Given the description of an element on the screen output the (x, y) to click on. 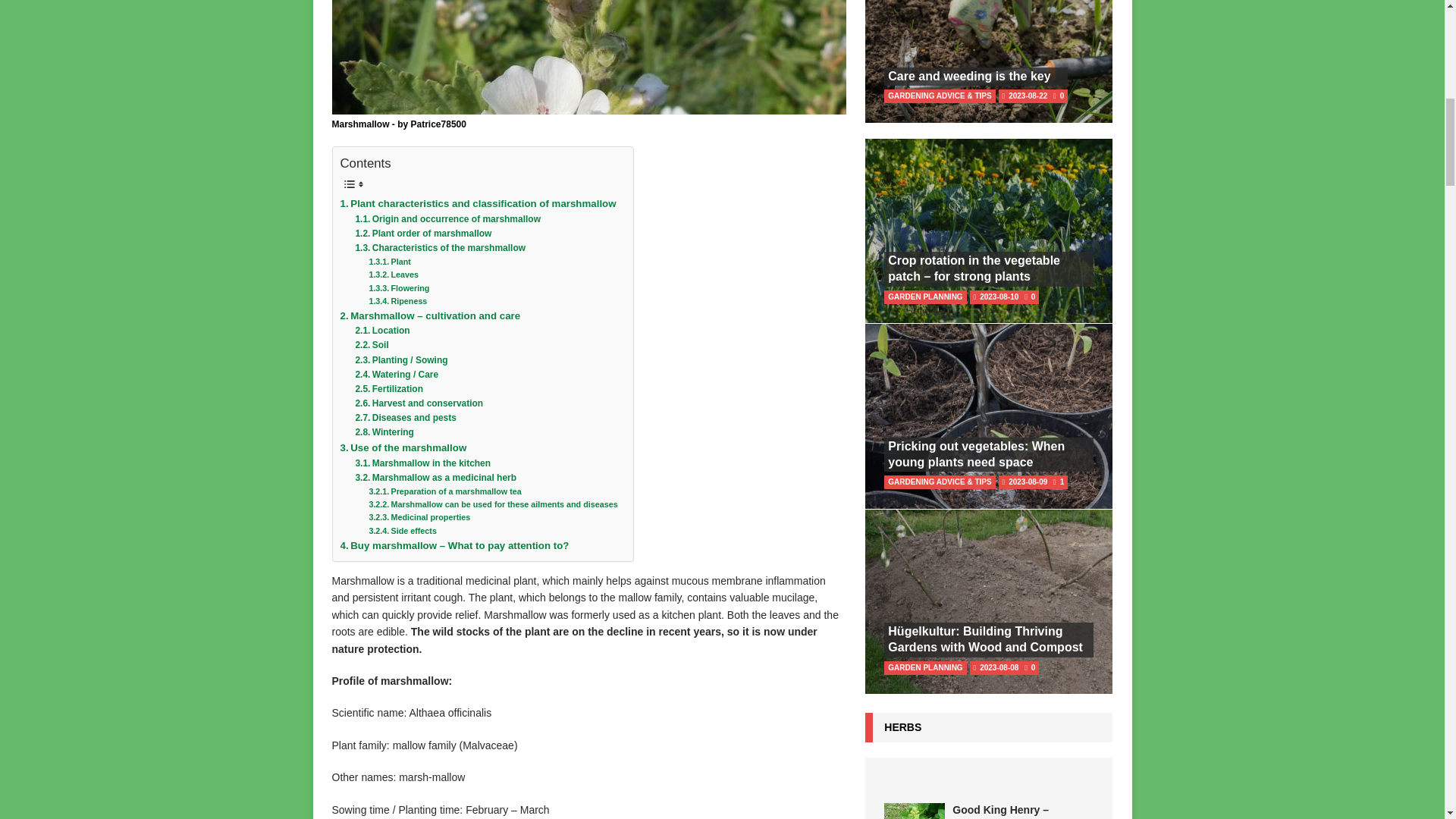
Leaves (447, 219)
Plant (440, 247)
Flowering (477, 203)
Ripeness (393, 274)
Marshmallow (389, 261)
